Given the description of an element on the screen output the (x, y) to click on. 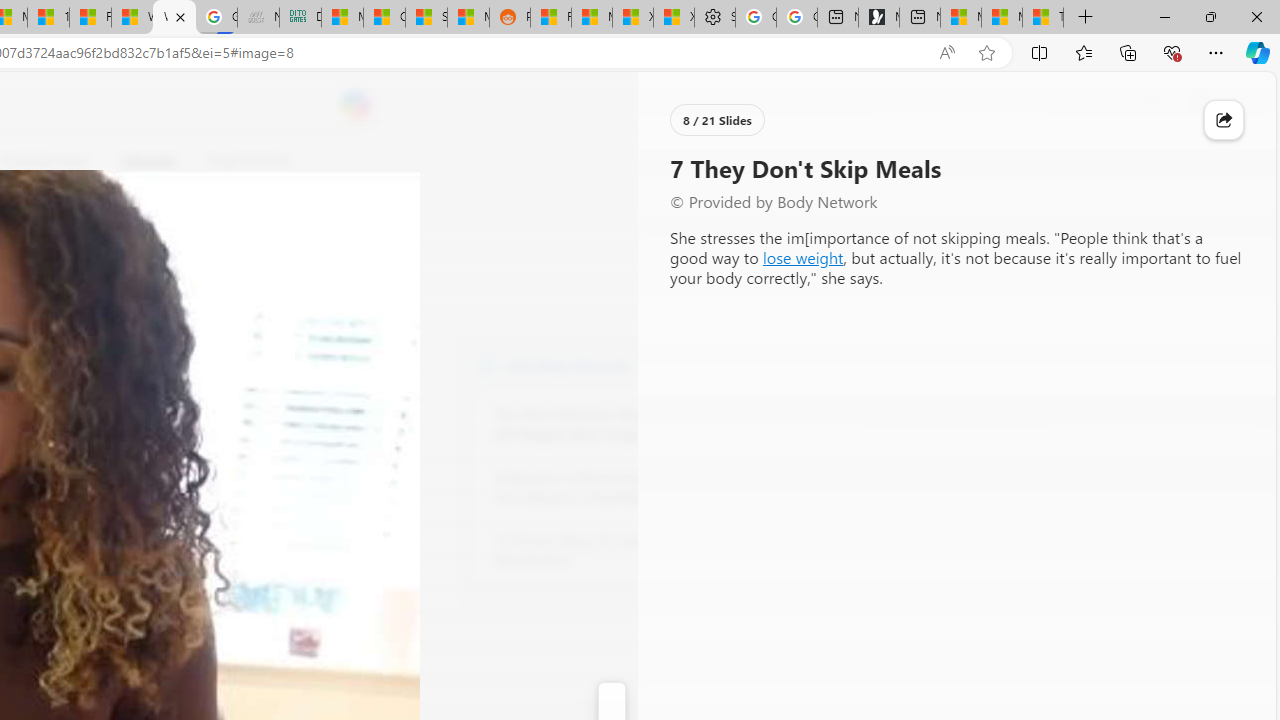
14 Common Myths Debunked By Scientific Facts (48, 17)
Split screen (1039, 52)
Class: at-item immersive (1224, 120)
Entertainment (45, 162)
New tab (919, 17)
Close (1256, 16)
Collections (1128, 52)
Stocks - MSN (425, 17)
Fitness - MSN (90, 17)
Open Copilot (356, 105)
lose weight (802, 256)
Open settings (1231, 105)
